Given the description of an element on the screen output the (x, y) to click on. 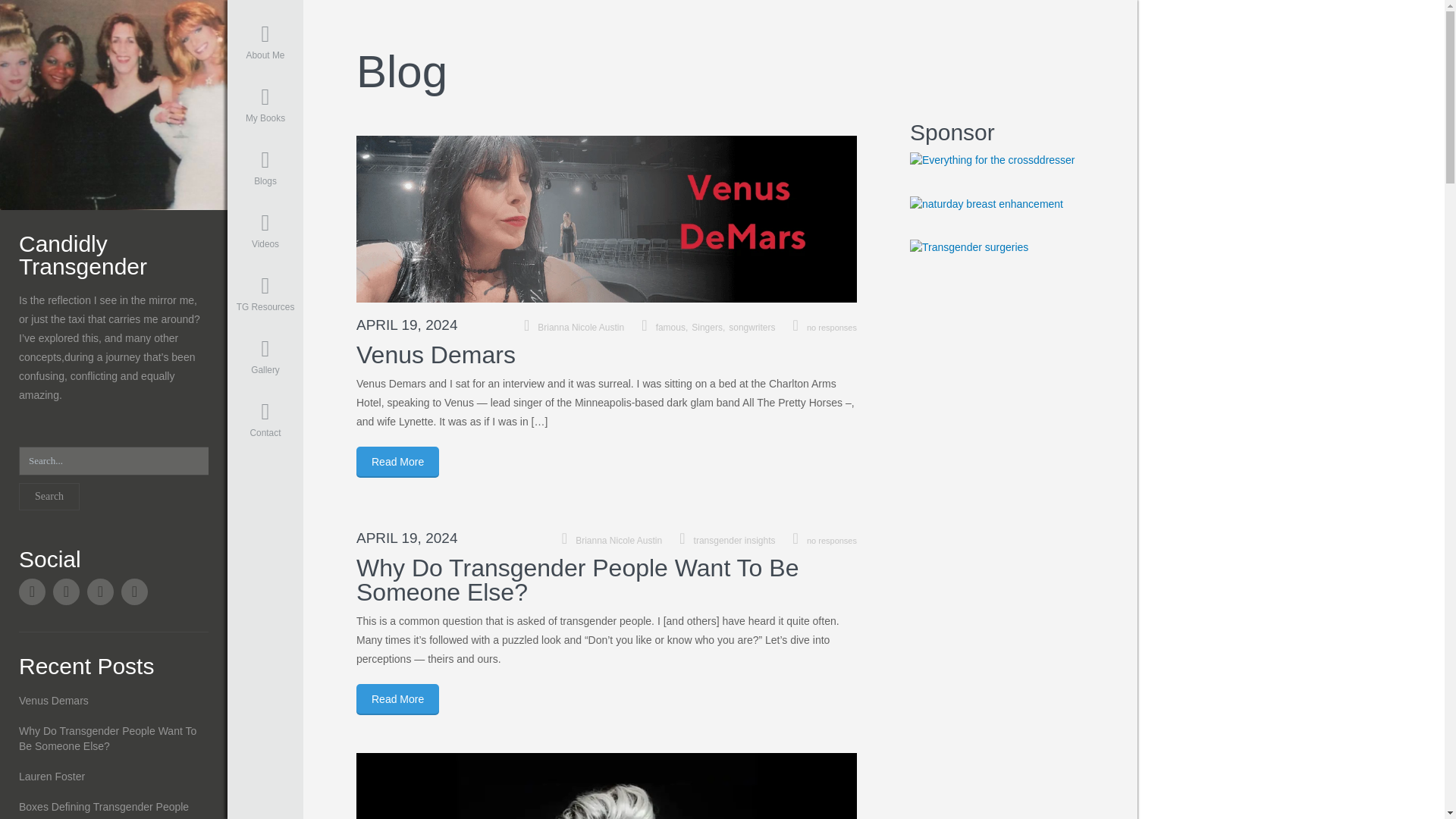
Read More (397, 461)
transgender insights (735, 540)
Brianna Nicole Austin (113, 103)
songwriters (751, 327)
famous, (674, 327)
Read More (397, 698)
Why Do Transgender People Want To Be Someone Else? (576, 580)
Brianna Nicole Austin (580, 327)
Singers, (710, 327)
Venus Demars (435, 354)
